Given the description of an element on the screen output the (x, y) to click on. 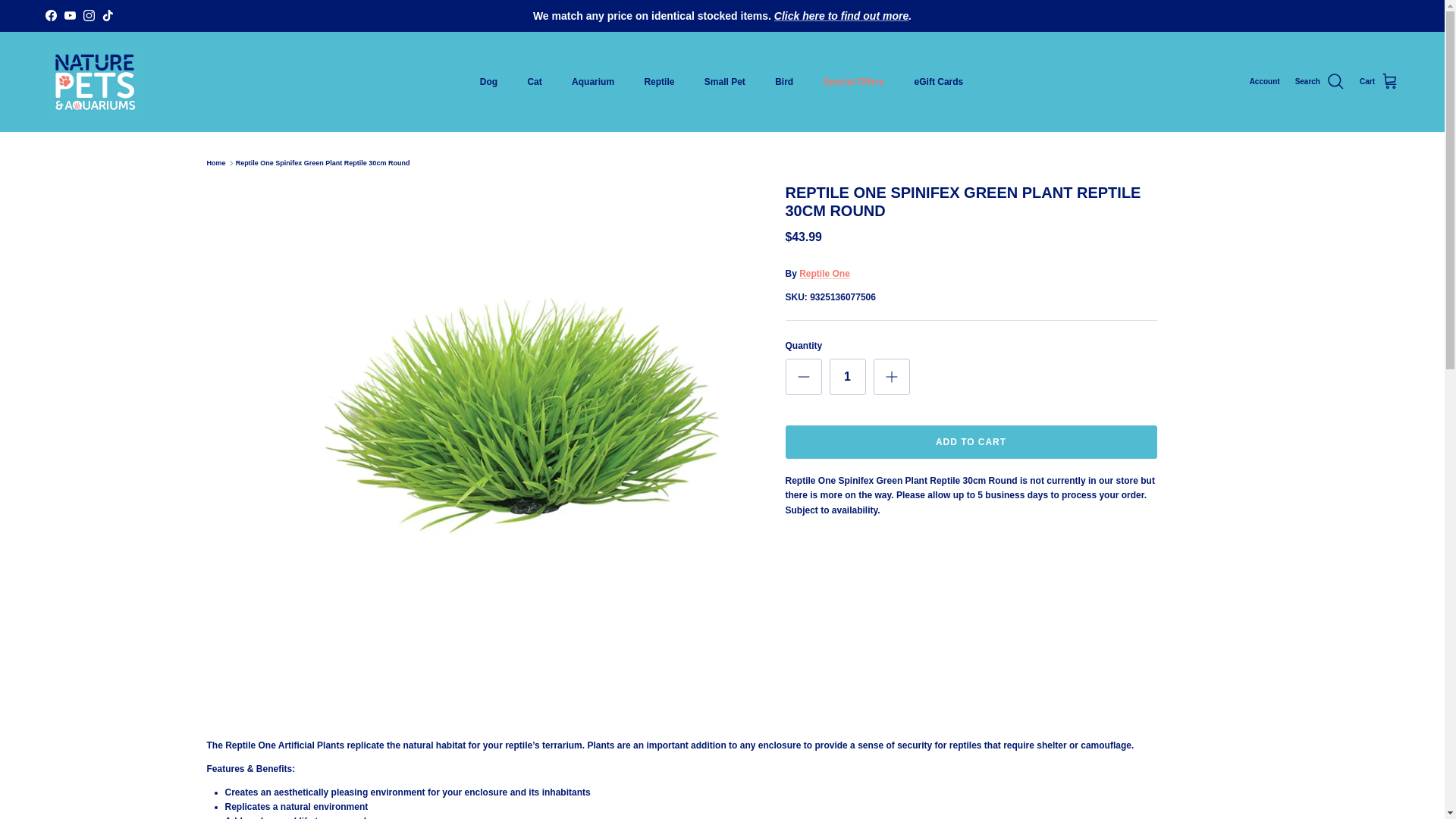
Facebook (50, 15)
Cart (1379, 81)
Account (1264, 81)
TikTok (107, 15)
Small Pet (724, 81)
YouTube (69, 15)
Reptile (658, 81)
Special Offers (853, 81)
Bird (783, 81)
Aquarium (592, 81)
Price Match (841, 15)
Instagram (88, 15)
Click here to find out more (841, 15)
Dog (488, 81)
eGift Cards (938, 81)
